Given the description of an element on the screen output the (x, y) to click on. 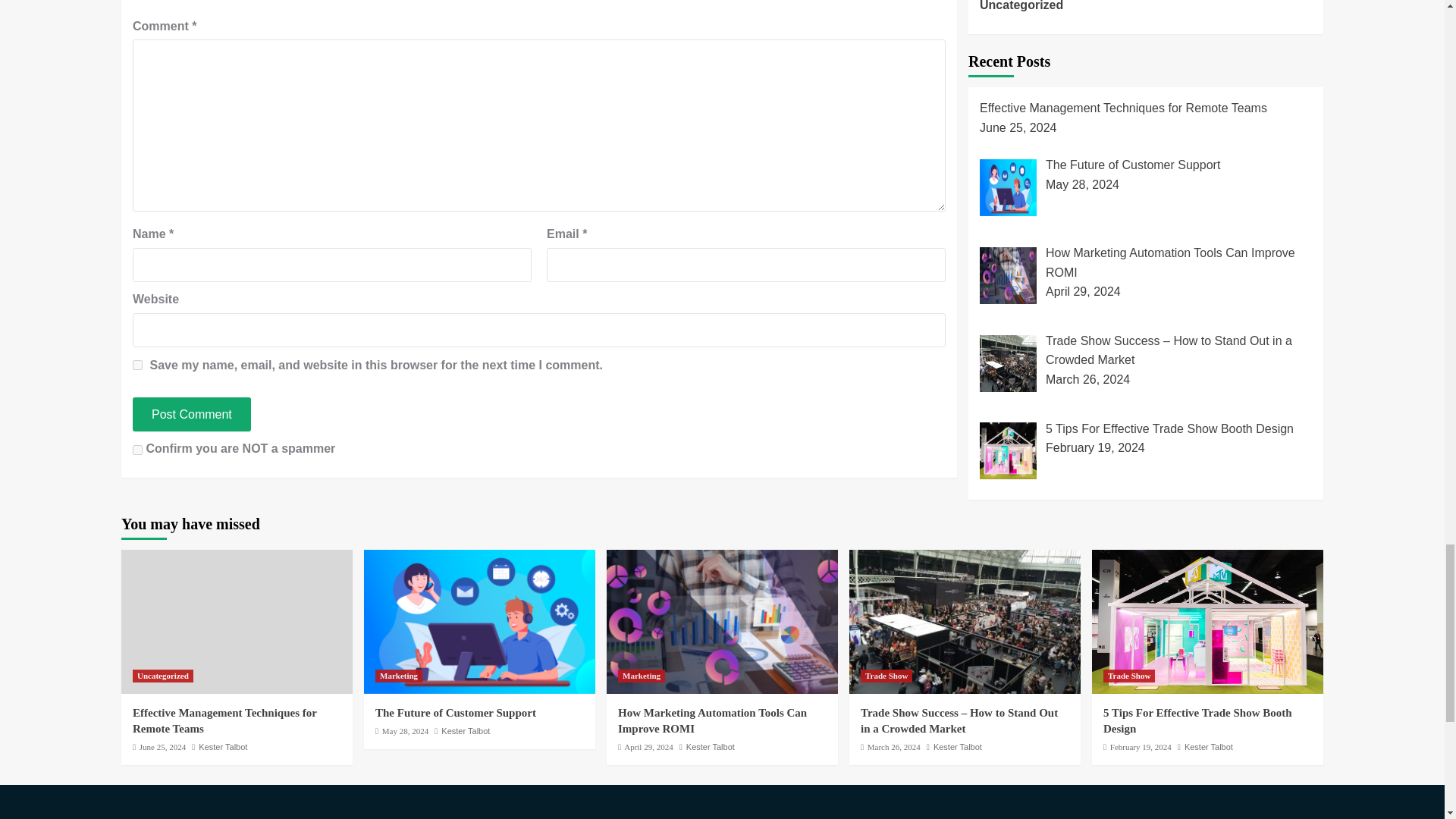
Post Comment (191, 414)
on (137, 449)
Post Comment (191, 414)
yes (137, 365)
